Given the description of an element on the screen output the (x, y) to click on. 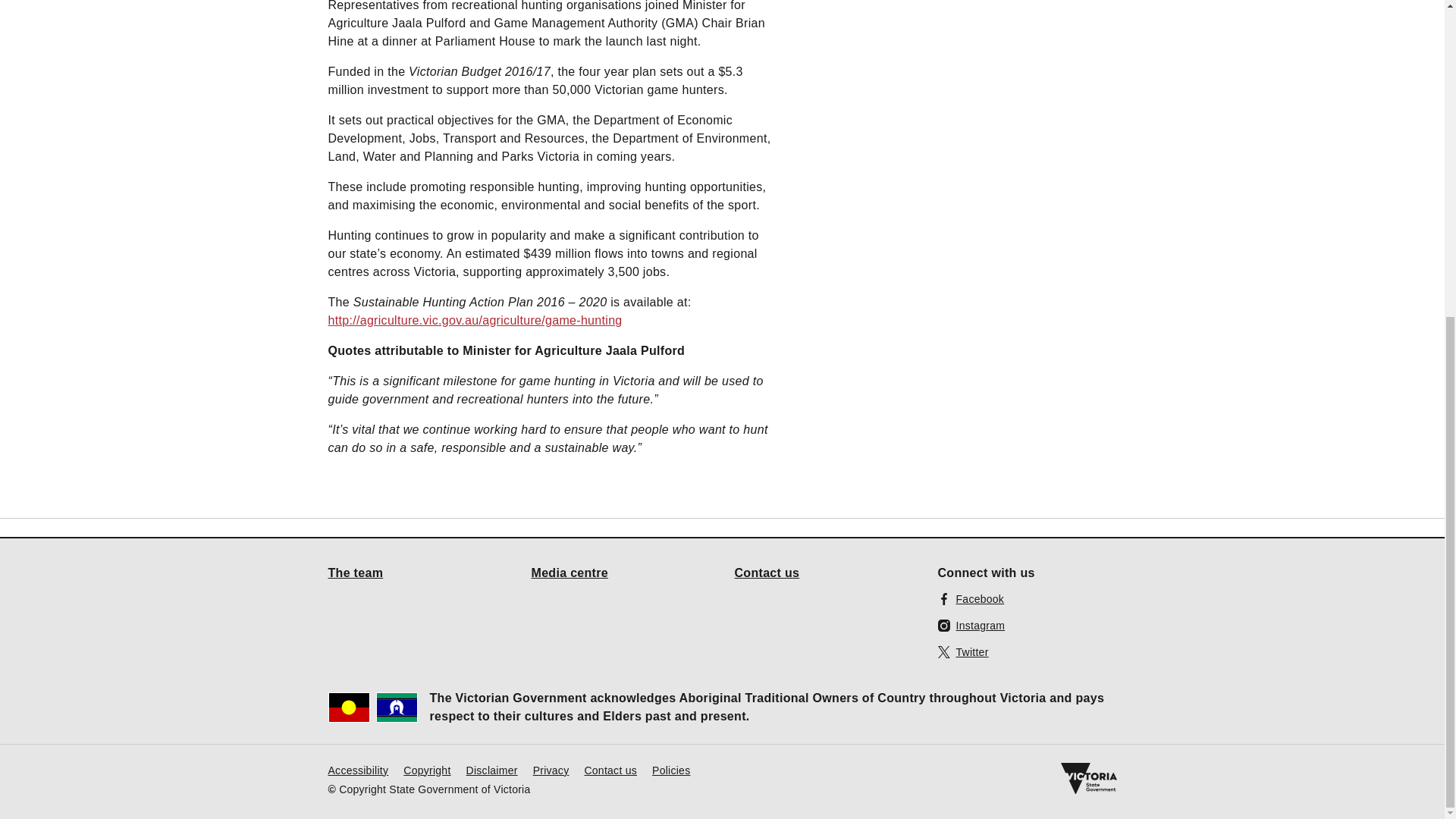
Copyright (426, 769)
The team (354, 572)
Contact us (610, 769)
Facebook (970, 598)
Accessibility (357, 769)
Disclaimer (491, 769)
Policies (671, 769)
Contact us (766, 572)
Media centre (569, 572)
Instagram (970, 625)
